Given the description of an element on the screen output the (x, y) to click on. 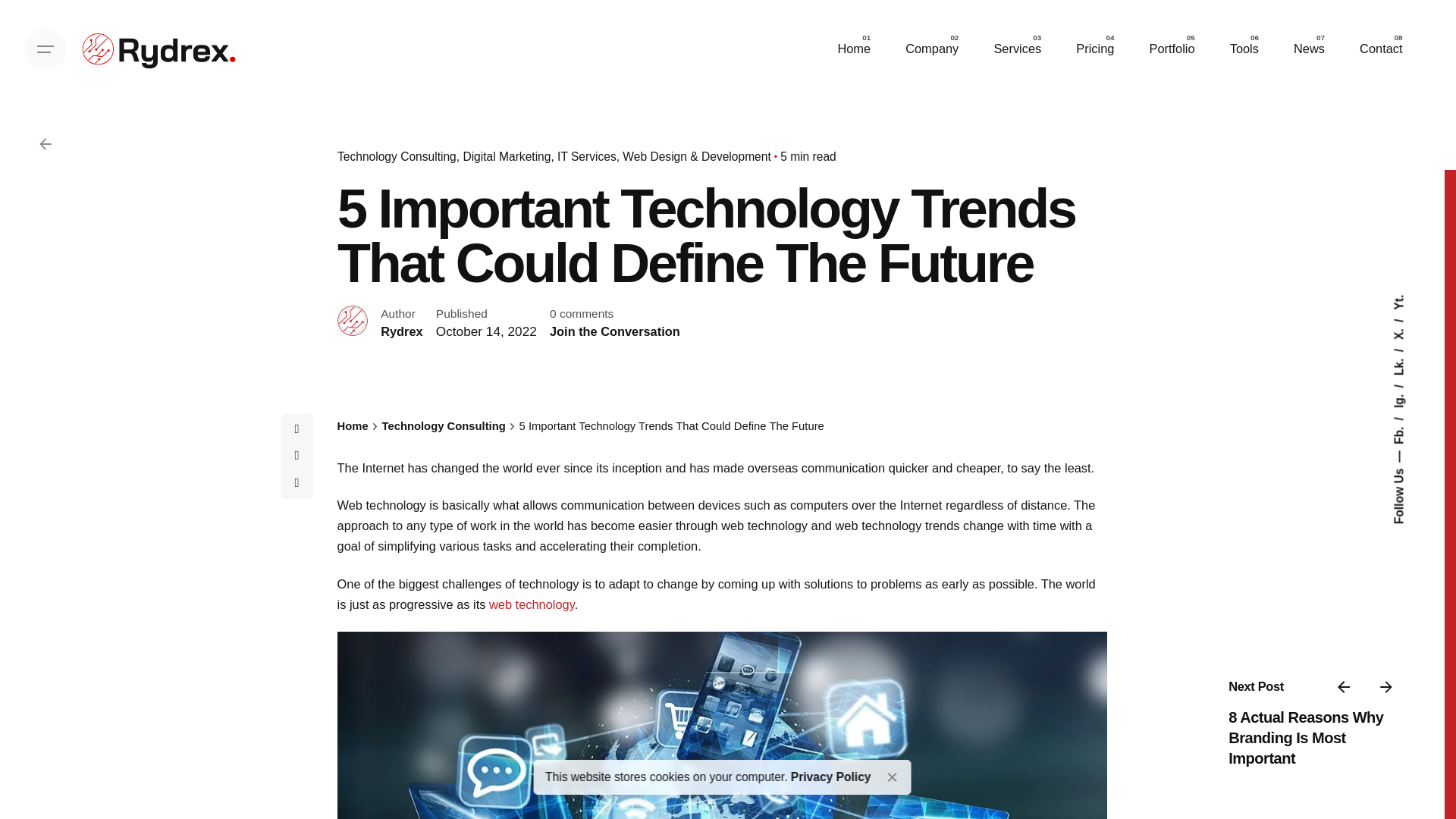
Company (931, 49)
Lk. (1403, 360)
Home (853, 49)
Portfolio (1171, 49)
Fb. (1403, 429)
Services (1016, 49)
News (1309, 49)
Yt. (1400, 300)
X. (1400, 331)
Contact (1381, 49)
